Given the description of an element on the screen output the (x, y) to click on. 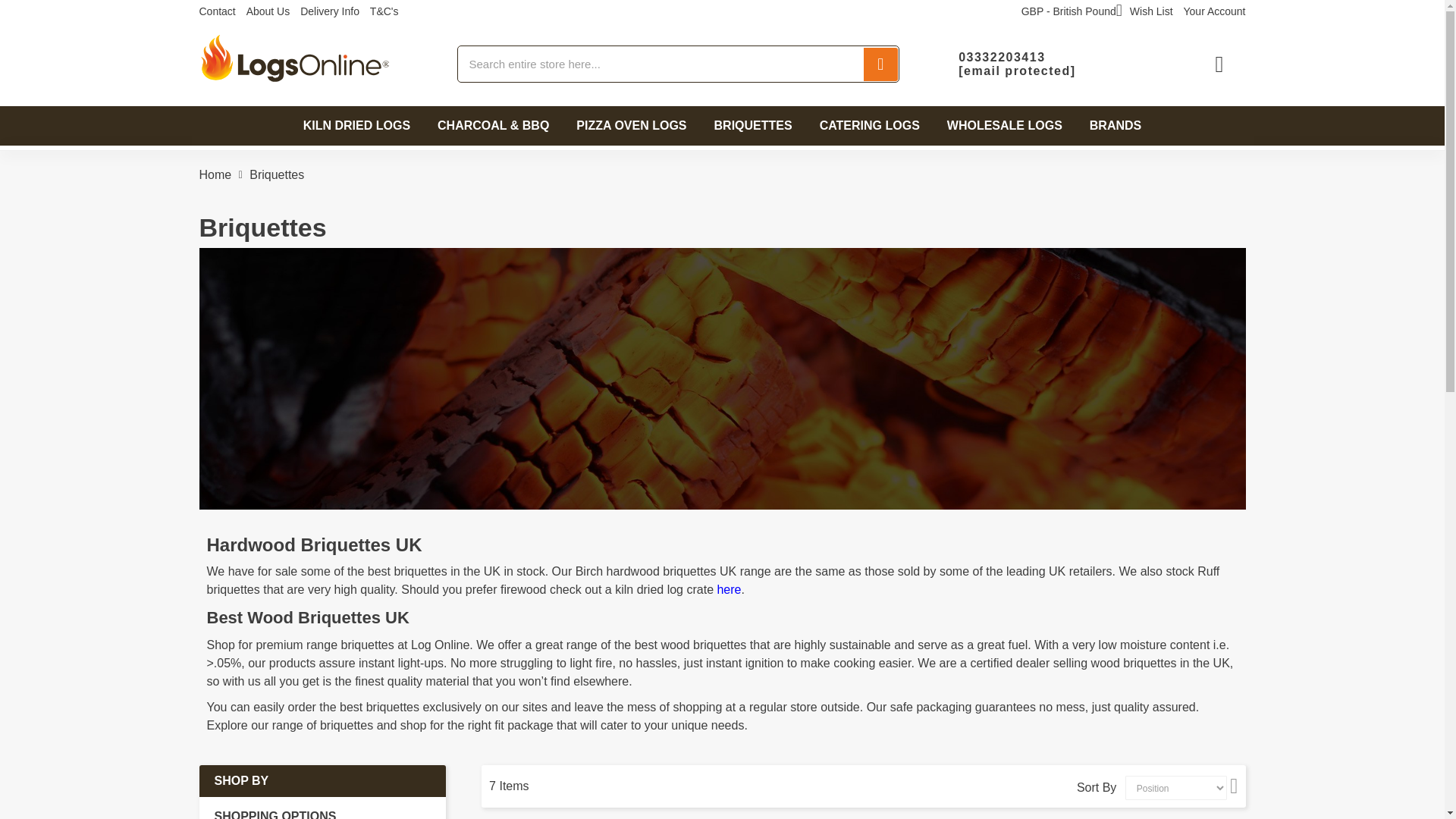
SEARCH (880, 63)
GBP - British Pound (1072, 11)
Go to Home Page (214, 174)
KILN DRIED LOGS (356, 125)
Logs Online (293, 64)
Delivery Info (329, 10)
Search (880, 63)
Contact (216, 10)
About Us (267, 10)
